Given the description of an element on the screen output the (x, y) to click on. 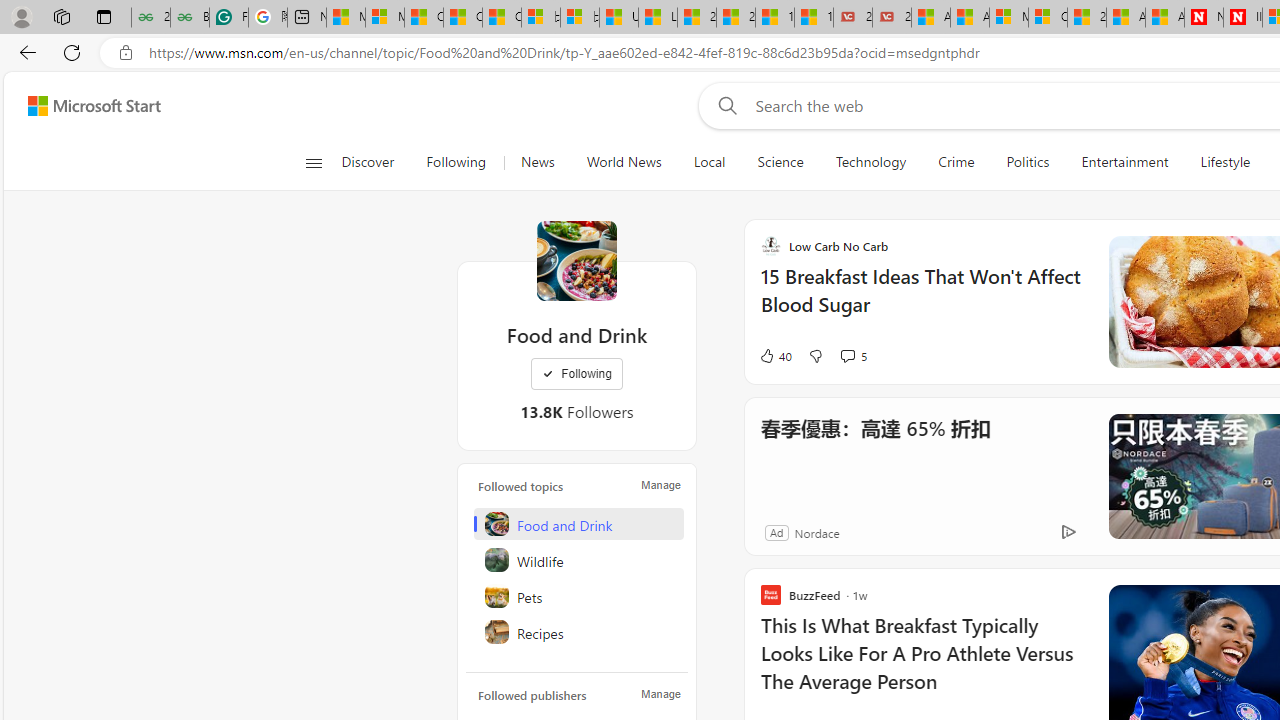
40 Like (775, 355)
Recipes (578, 632)
